Given the description of an element on the screen output the (x, y) to click on. 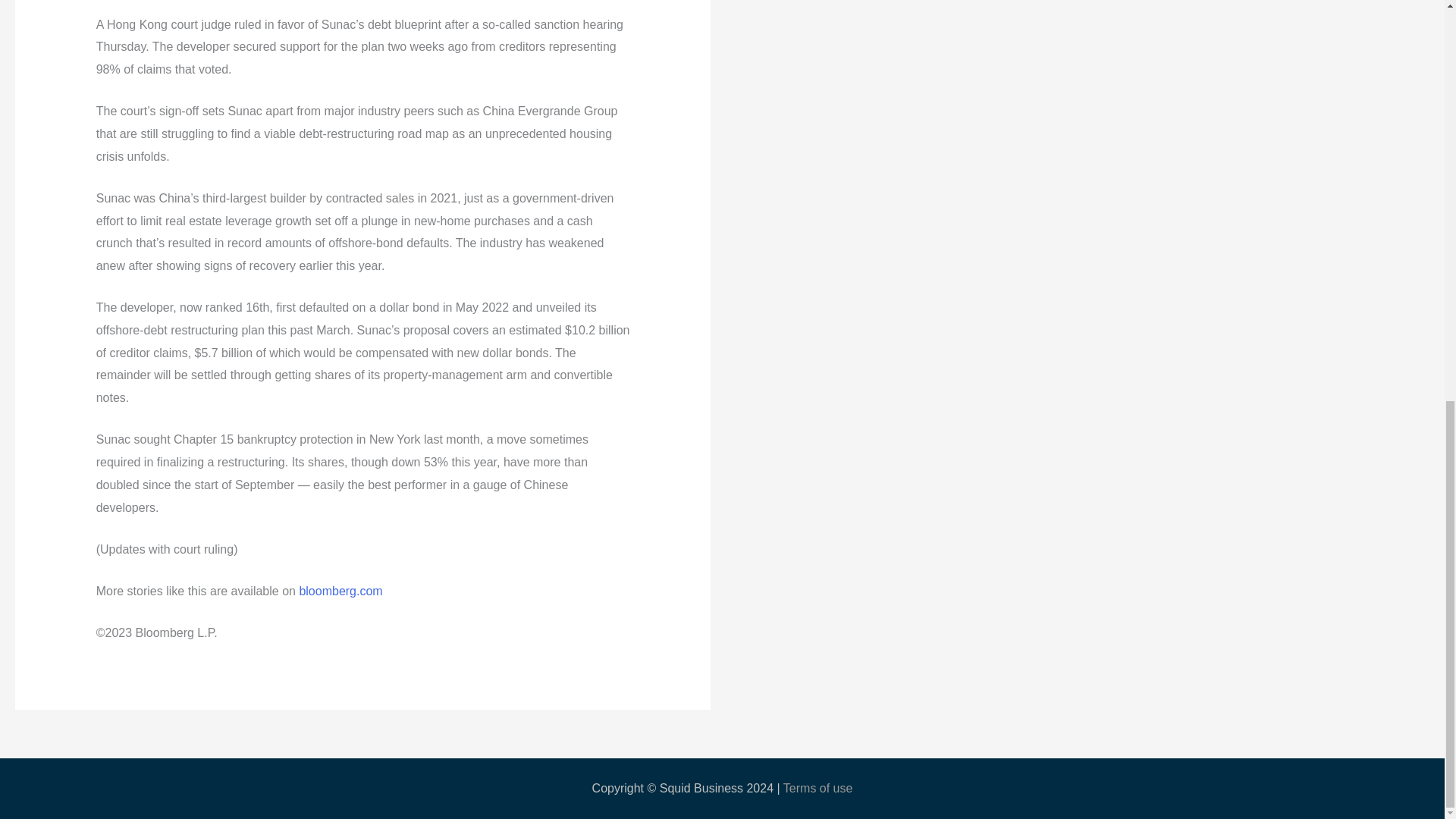
bloomberg.com (339, 590)
Terms of use (818, 788)
